Given the description of an element on the screen output the (x, y) to click on. 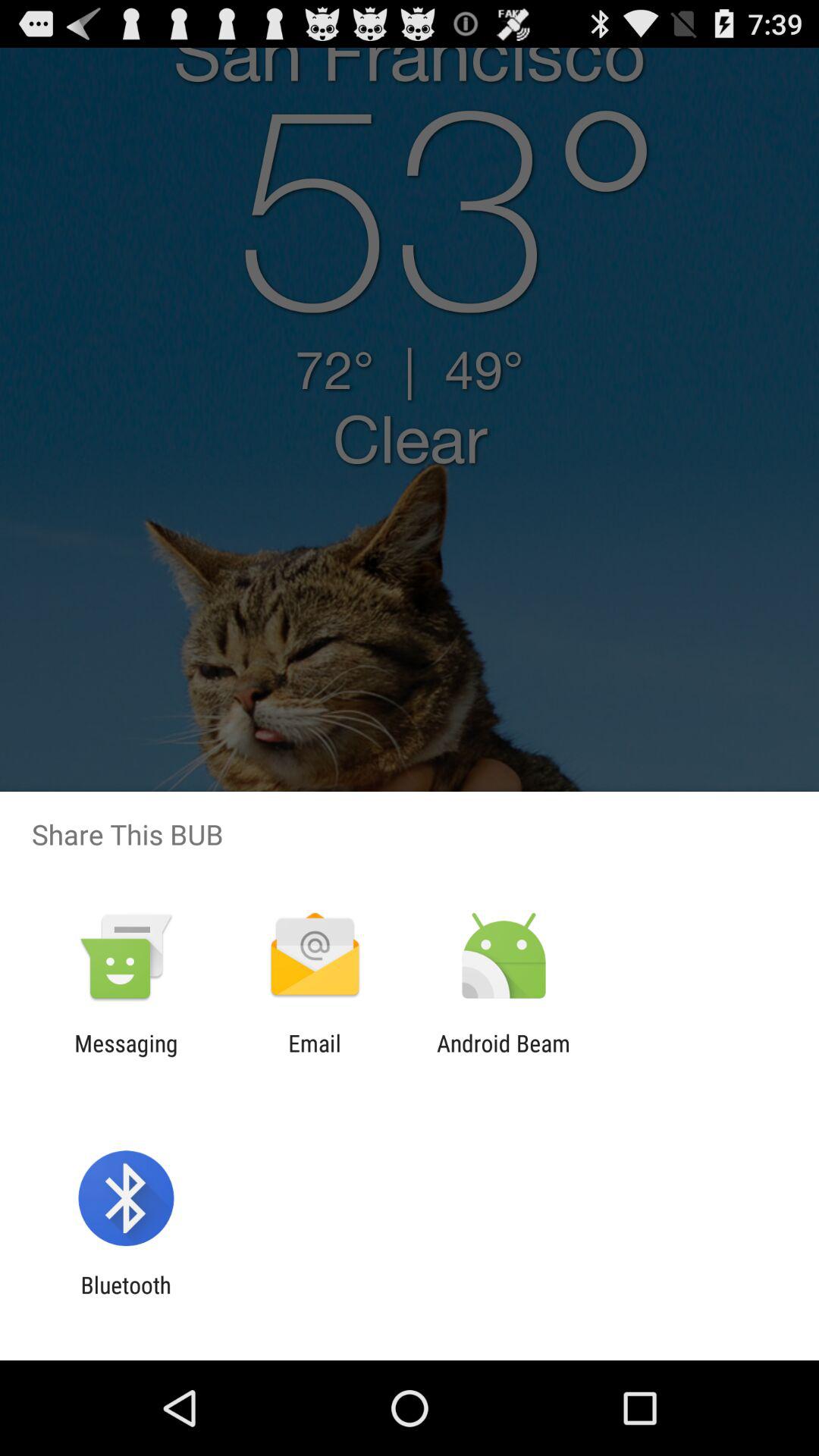
open the email (314, 1056)
